Given the description of an element on the screen output the (x, y) to click on. 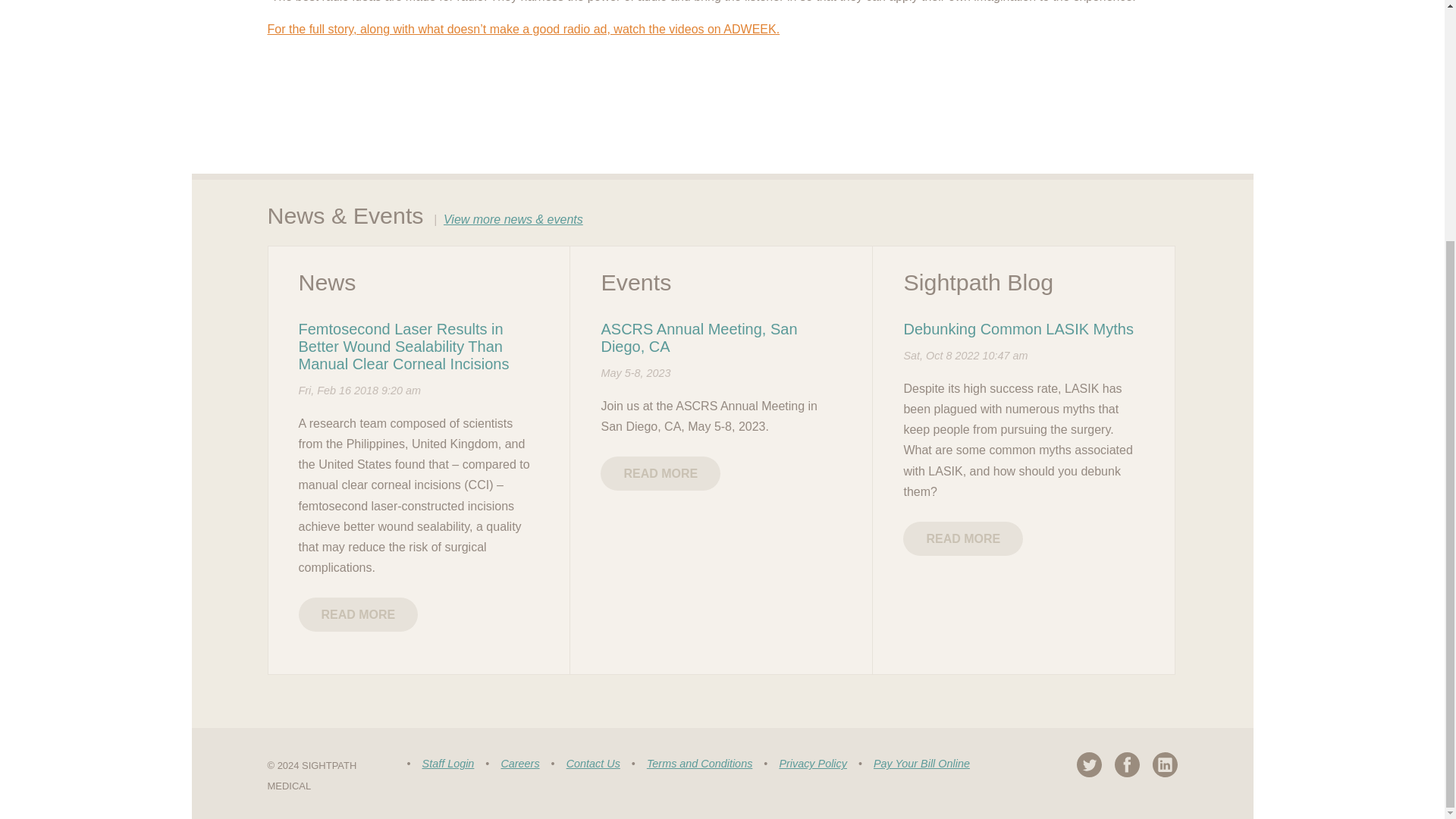
READ MORE (358, 614)
